Given the description of an element on the screen output the (x, y) to click on. 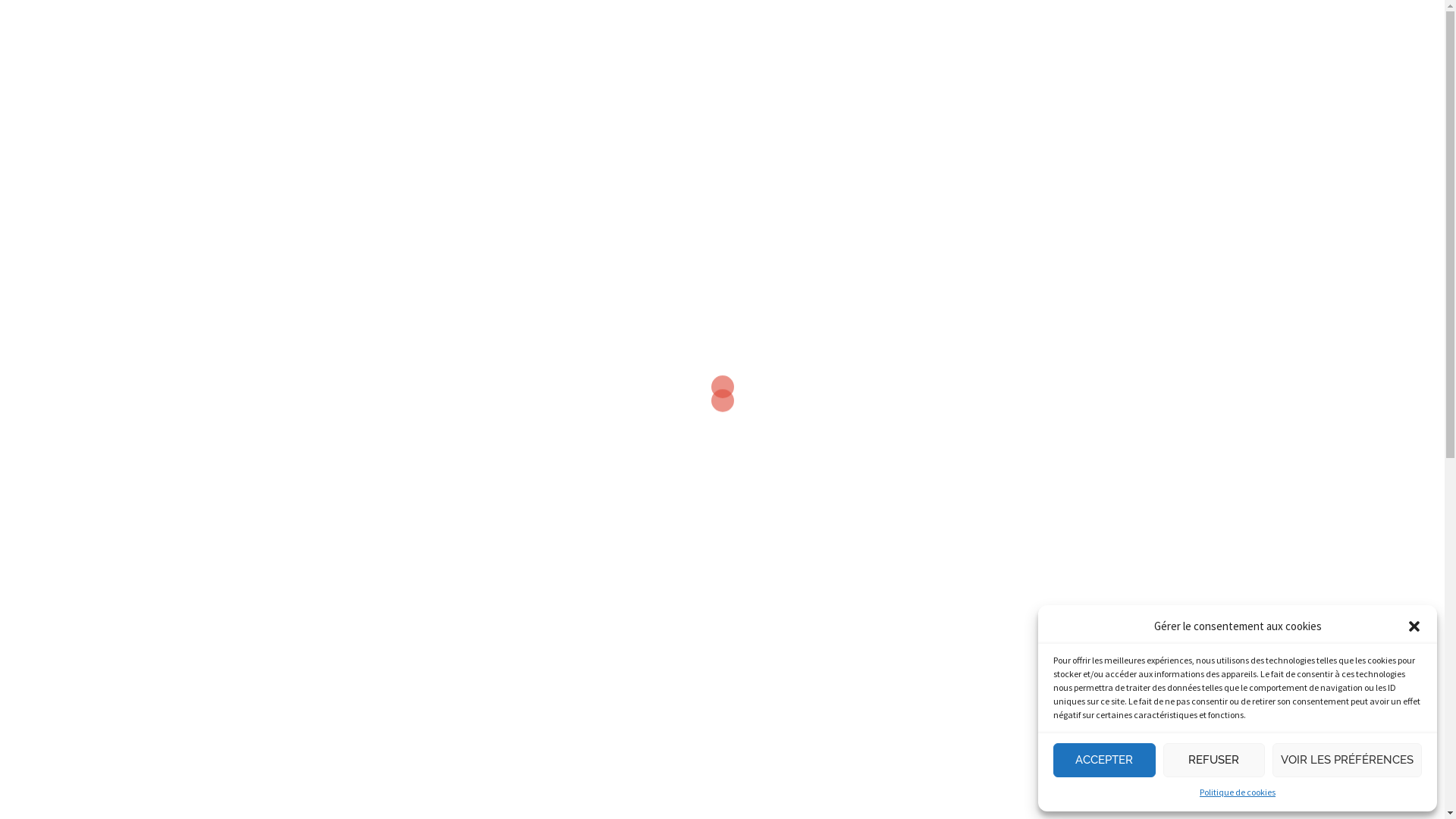
WIFI Element type: text (514, 439)
REFUSER Element type: text (1214, 760)
HOME Element type: text (723, 40)
CONTACT Element type: text (1114, 40)
NOS INSTALLATIONS Element type: text (903, 40)
Politique de cookies Element type: text (1237, 792)
CABLAGE Element type: text (333, 439)
INSTALLATIONS Element type: text (428, 439)
Rechercher Element type: text (60, 18)
JEAN-FRANCOIS LEFEBVRE Element type: text (450, 535)
A PROPOS DE Element type: text (1025, 40)
25 MARS 2019 Element type: text (359, 535)
SERVICES Element type: text (791, 40)
ACCEPTER Element type: text (1104, 760)
